Given the description of an element on the screen output the (x, y) to click on. 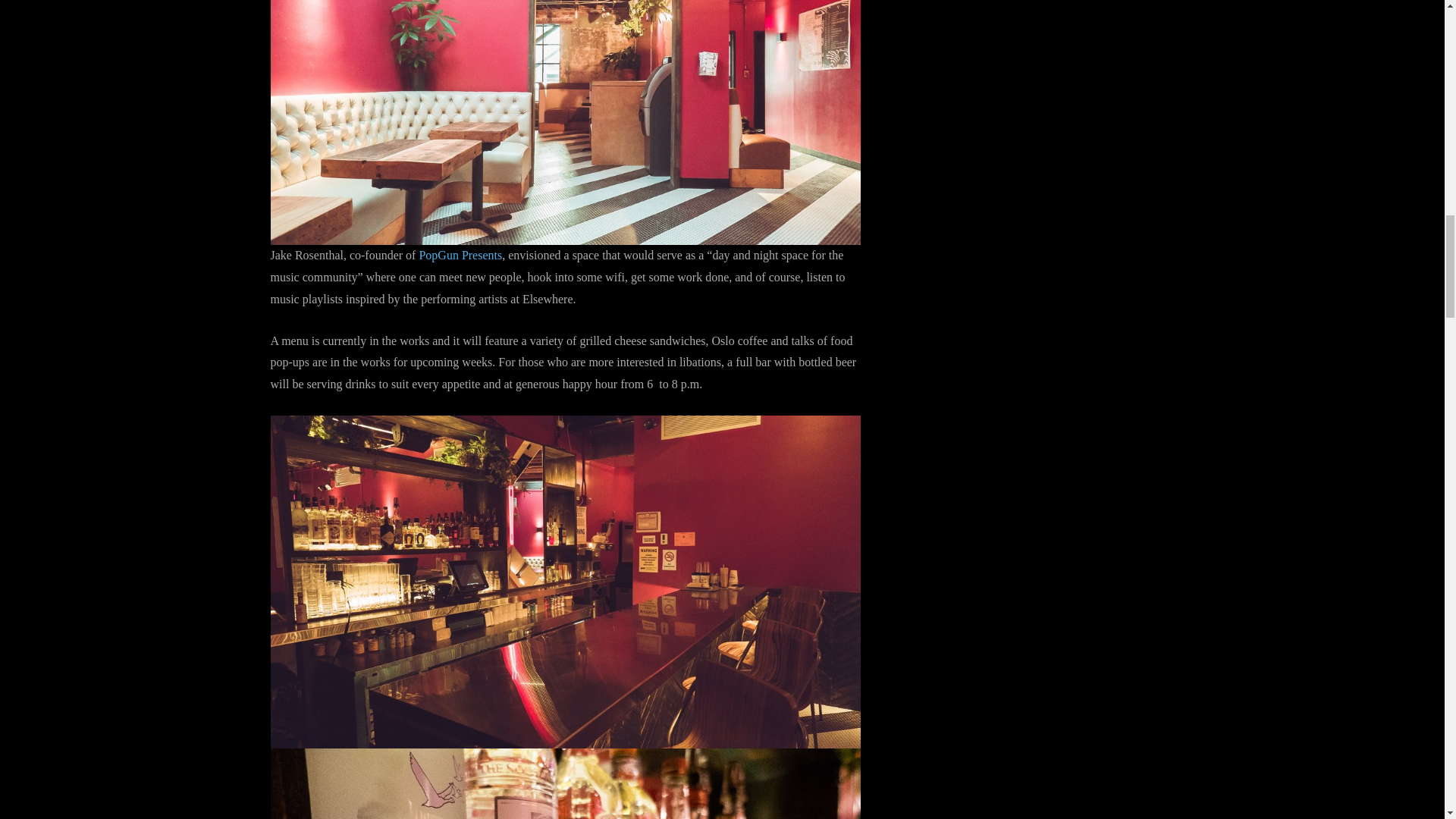
PopGun Presents (460, 254)
